Given the description of an element on the screen output the (x, y) to click on. 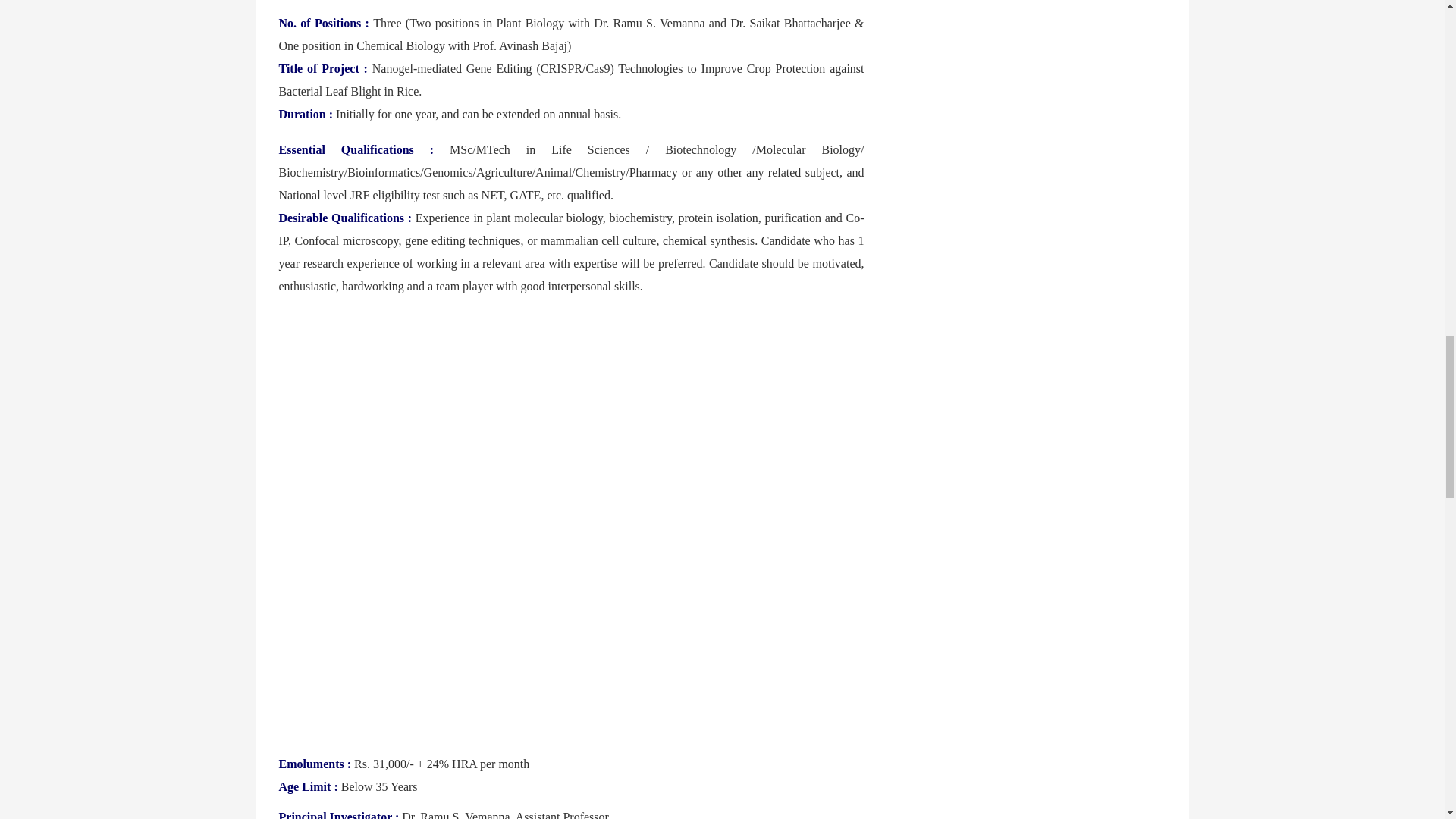
Advertisement (571, 631)
